Given the description of an element on the screen output the (x, y) to click on. 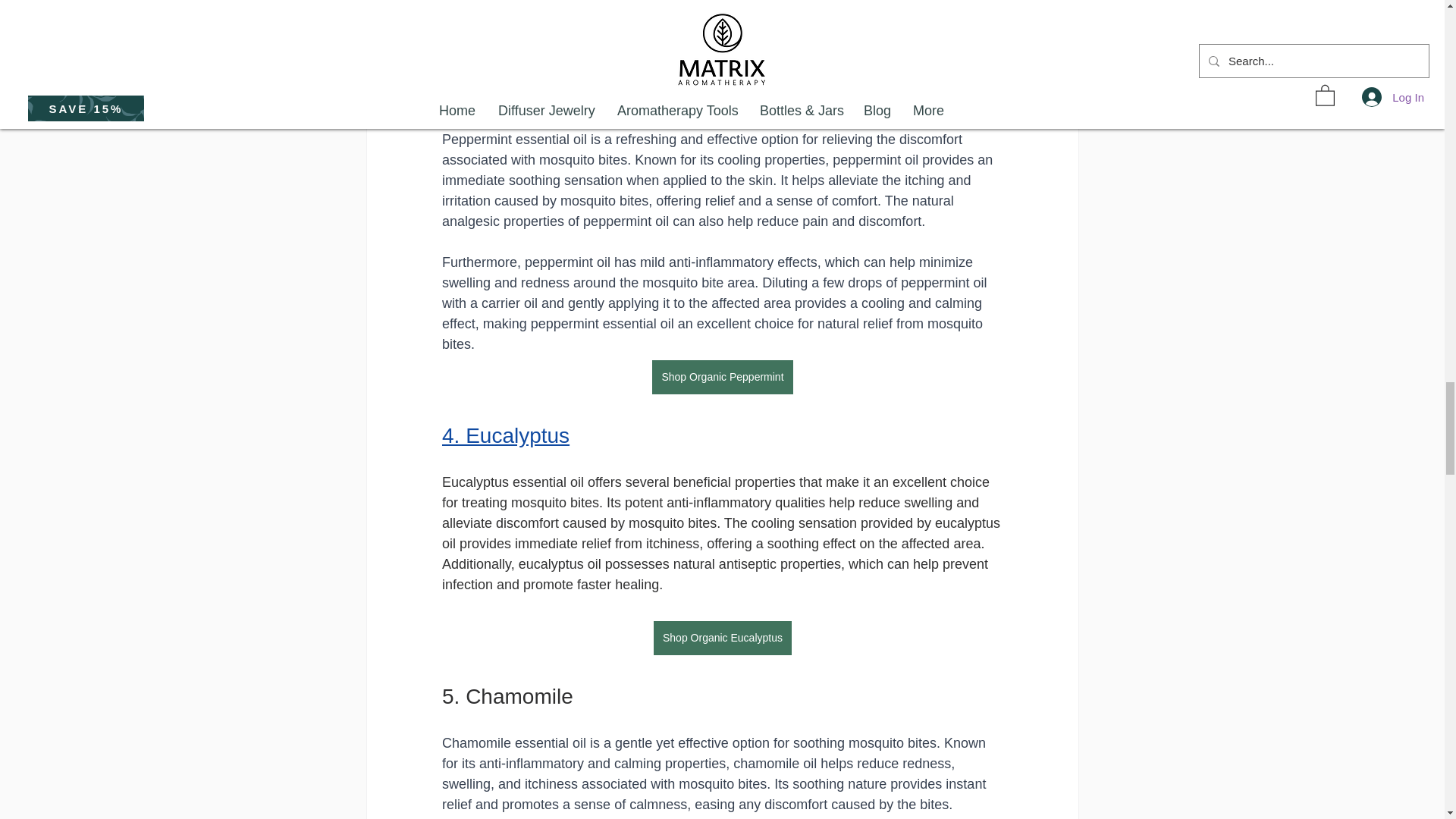
Shop Organic Peppermint (722, 376)
4. Eucalyptus (505, 435)
Shop Organic Eucalyptus (722, 637)
